Given the description of an element on the screen output the (x, y) to click on. 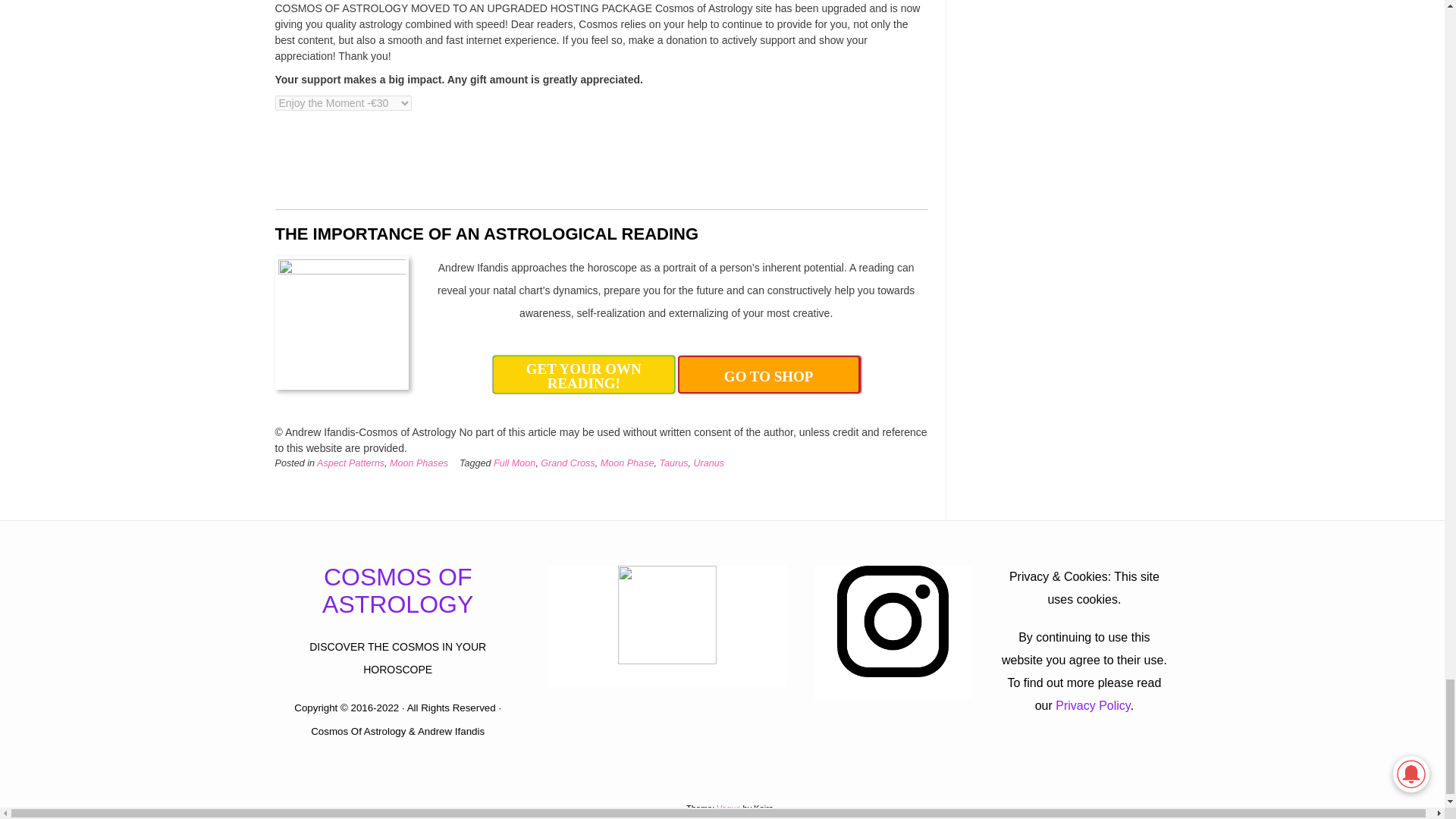
PayPal (369, 158)
GET YOUR READING! (584, 374)
GO TO SHOP (769, 374)
